Given the description of an element on the screen output the (x, y) to click on. 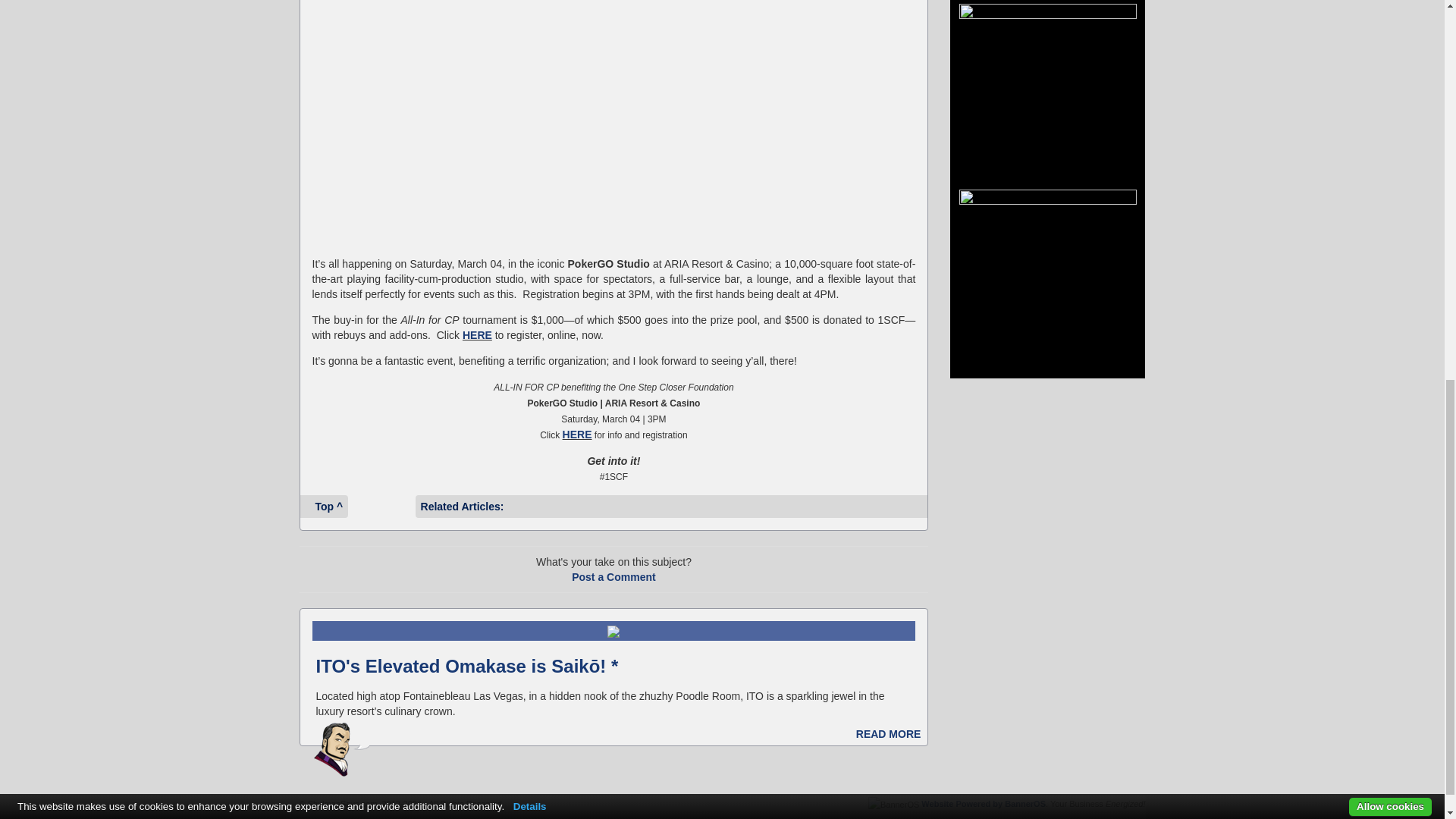
Post a Comment (613, 576)
READ MORE (892, 734)
HERE (477, 335)
HERE (577, 434)
